Given the description of an element on the screen output the (x, y) to click on. 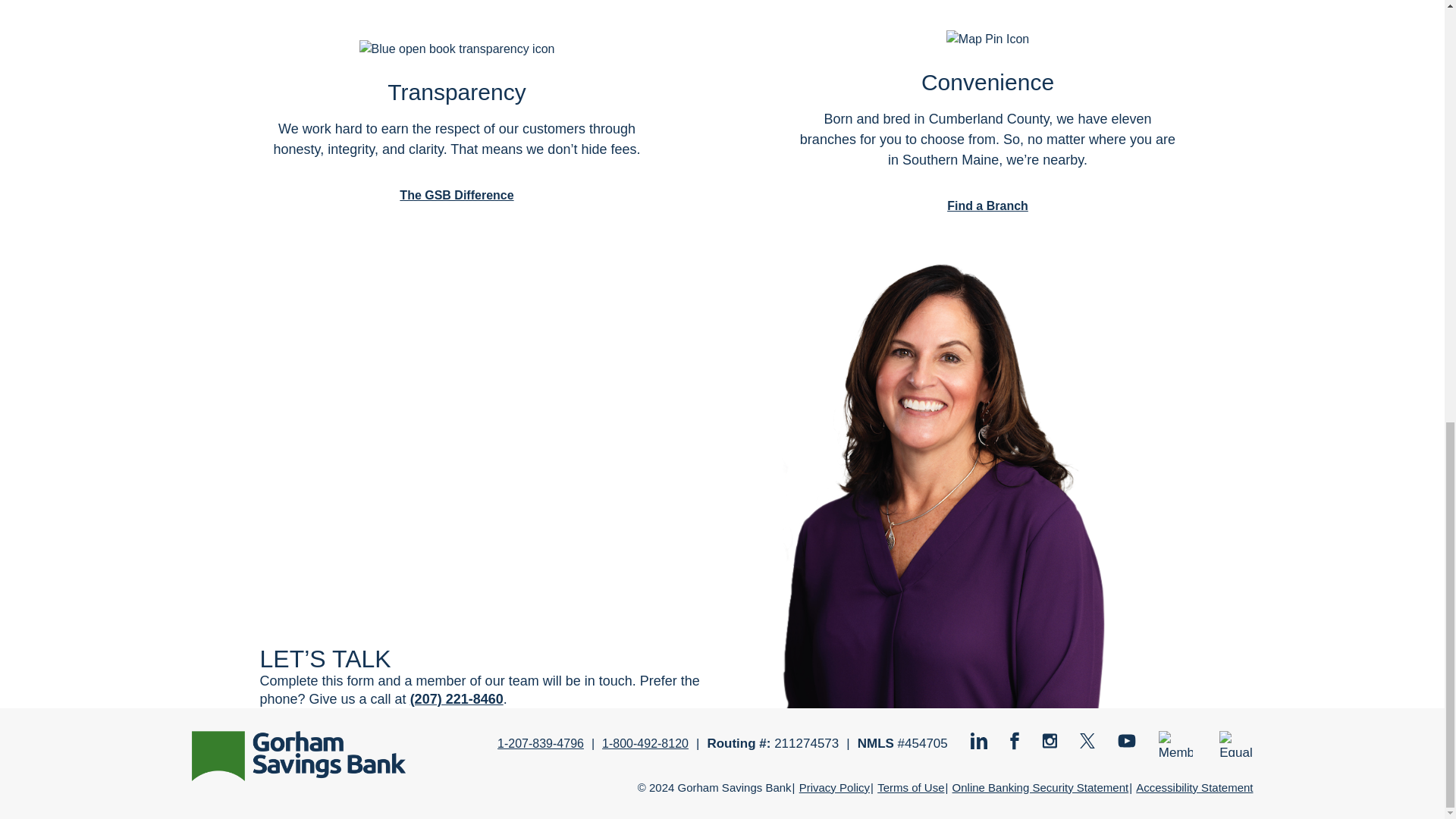
LinkedIn icon (979, 740)
X icon (1087, 740)
Instagram icon (1049, 740)
YouTube icon (1126, 740)
